Given the description of an element on the screen output the (x, y) to click on. 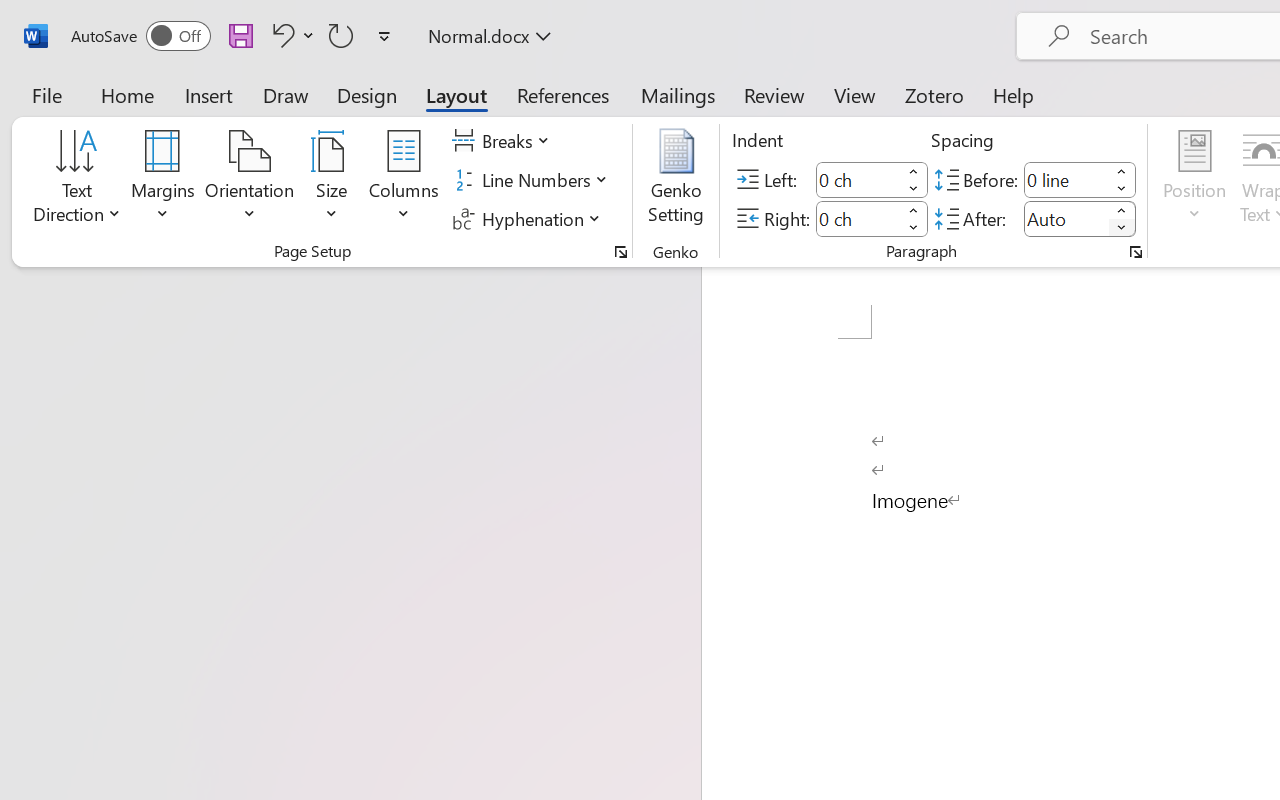
Position (1194, 179)
Spacing Before (1066, 179)
More (1121, 210)
Margins (163, 179)
Undo Paragraph Formatting (280, 35)
Indent Left (858, 179)
Paragraph... (1135, 252)
